Given the description of an element on the screen output the (x, y) to click on. 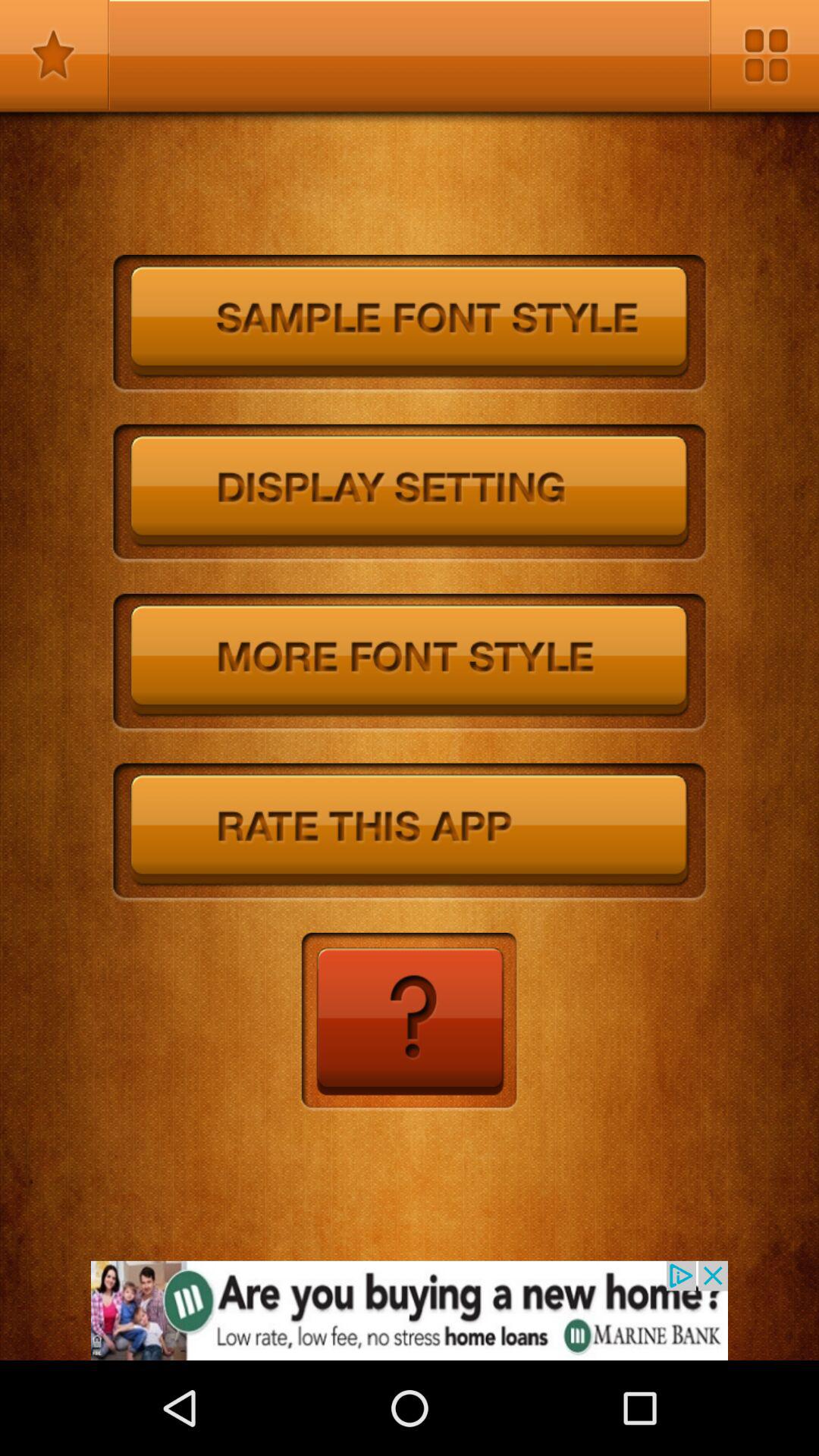
help (408, 1021)
